Given the description of an element on the screen output the (x, y) to click on. 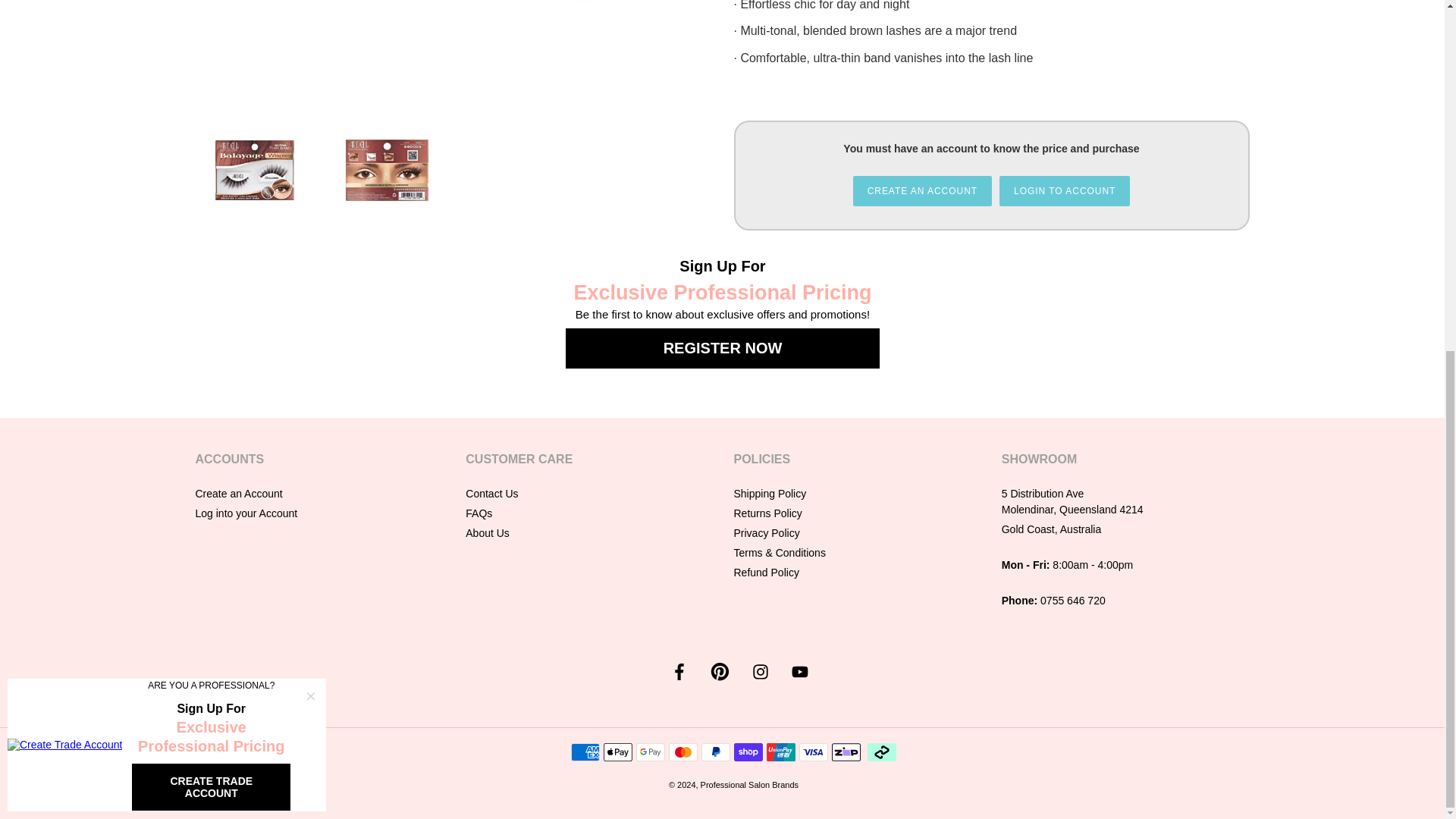
Mastercard (682, 751)
Zip (845, 751)
Shop Pay (747, 751)
American Express (584, 751)
Google Pay (650, 751)
PayPal (715, 751)
Union Pay (780, 751)
Embedded CTA (721, 307)
Apple Pay (617, 751)
Afterpay (881, 751)
Popup CTA (166, 133)
Visa (813, 751)
